Given the description of an element on the screen output the (x, y) to click on. 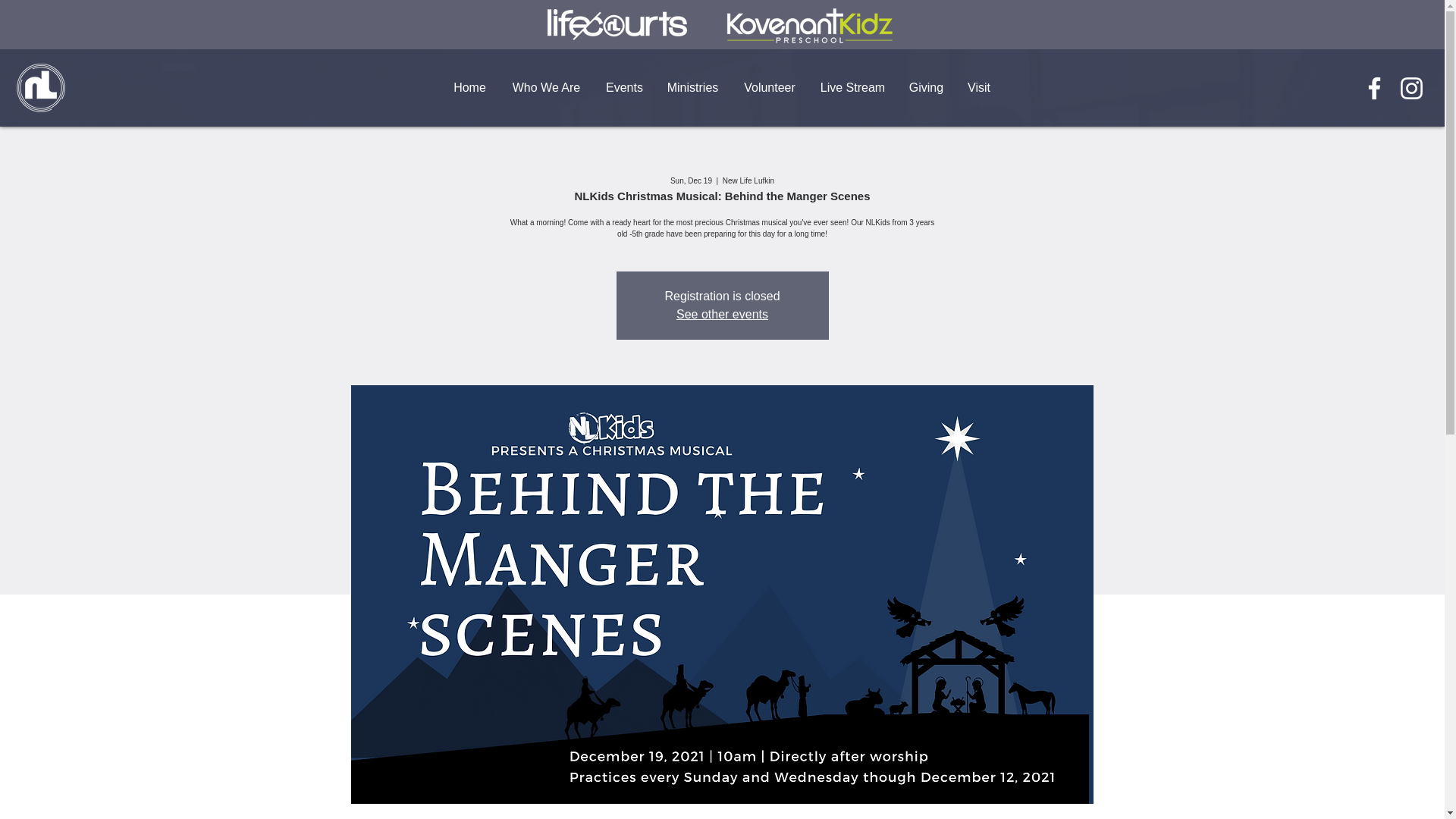
Visit (979, 87)
Ministries (691, 87)
Events (623, 87)
See other events (722, 314)
Home (469, 87)
Giving (925, 87)
Live Stream (852, 87)
Volunteer (769, 87)
